Given the description of an element on the screen output the (x, y) to click on. 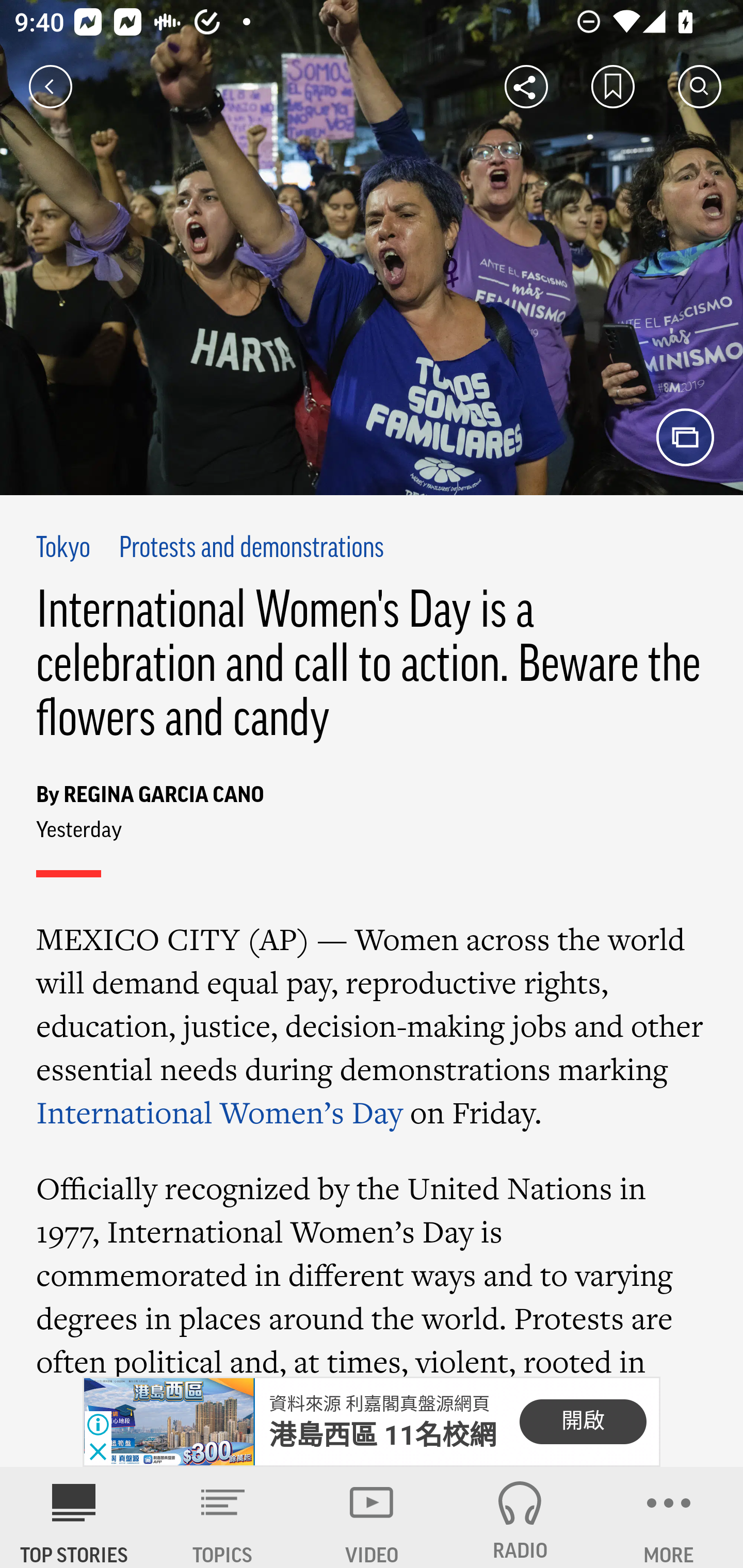
Tokyo (64, 549)
Protests and demonstrations (250, 549)
International Women’s Day (220, 1112)
資料來源 利嘉閣真盤源網頁 (379, 1403)
開啟 (582, 1421)
港島西區 11名校網 (382, 1434)
AP News TOP STORIES (74, 1517)
TOPICS (222, 1517)
VIDEO (371, 1517)
RADIO (519, 1517)
MORE (668, 1517)
